Given the description of an element on the screen output the (x, y) to click on. 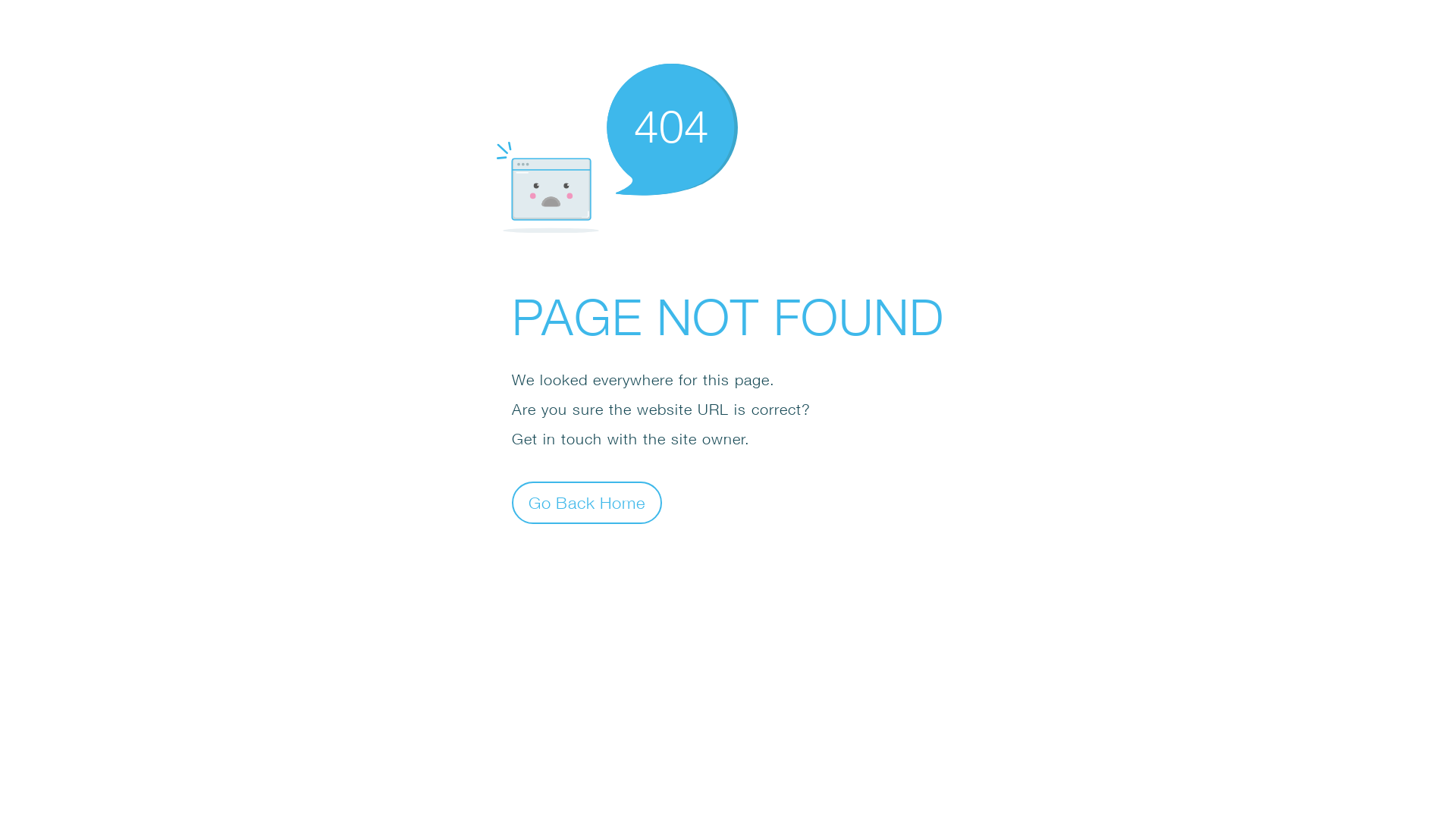
Go Back Home Element type: text (586, 502)
